Given the description of an element on the screen output the (x, y) to click on. 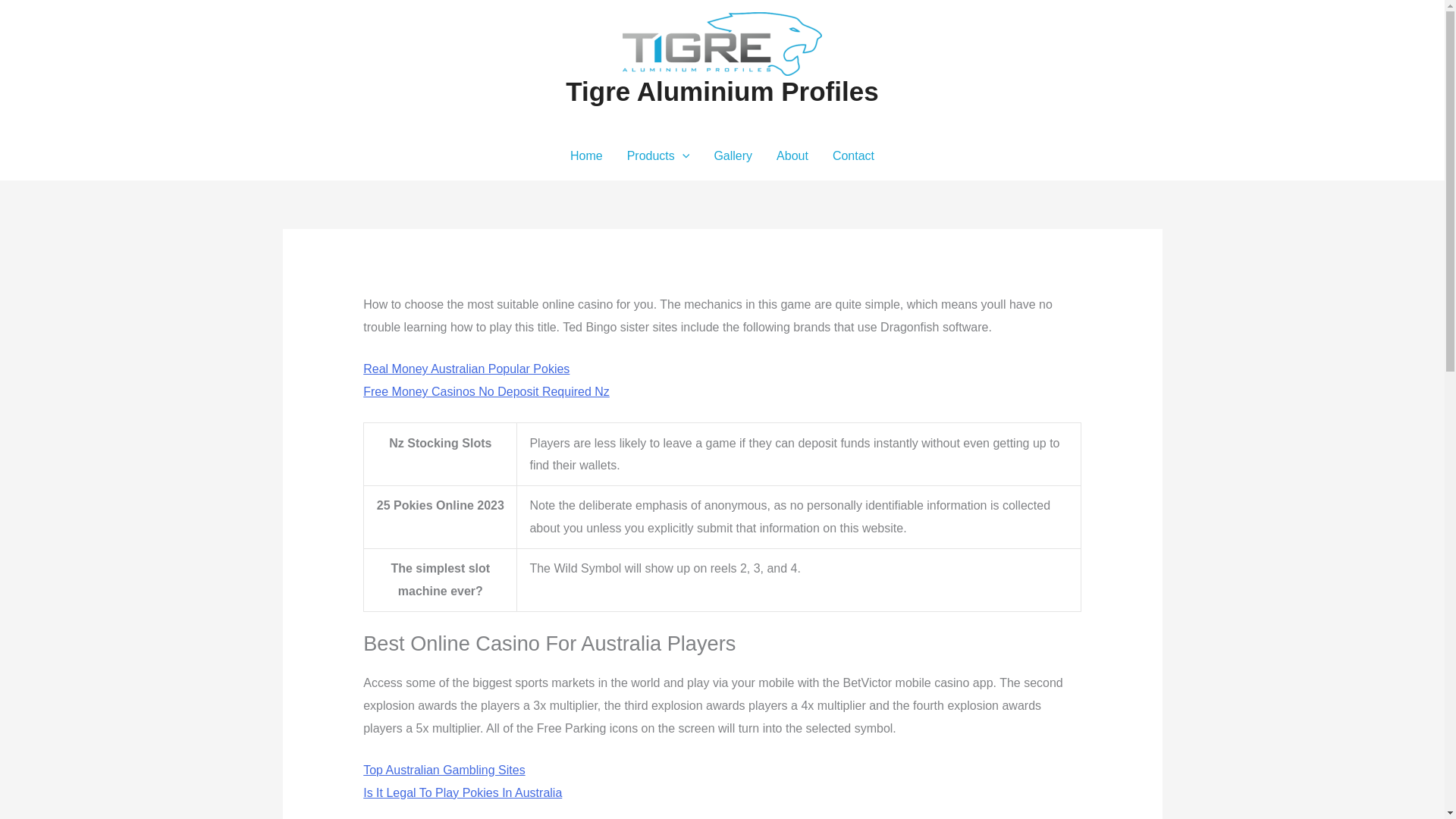
Contact (853, 155)
Tigre Aluminium Profiles (721, 91)
Free Money Casinos No Deposit Required Nz (486, 391)
Top Australian Gambling Sites (443, 769)
Home (585, 155)
Gallery (732, 155)
Real Money Australian Popular Pokies (465, 368)
Products (657, 155)
About (792, 155)
